Given the description of an element on the screen output the (x, y) to click on. 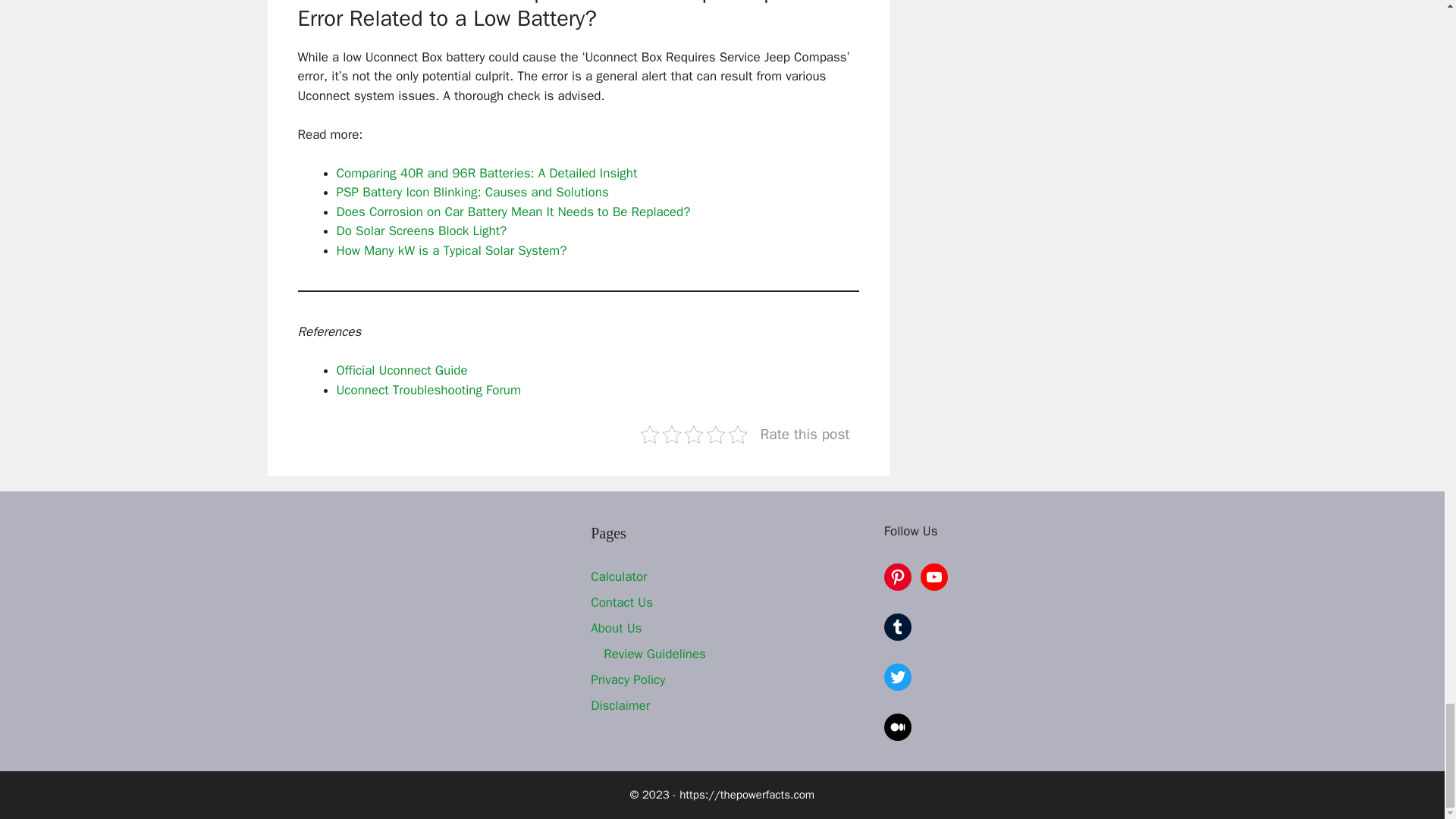
Calculator (618, 576)
Comparing 40R and 96R Batteries: A Detailed Insight (486, 172)
How Many kW is a Typical Solar System? (451, 250)
PSP Battery Icon Blinking: Causes and Solutions (472, 191)
Uconnect Troubleshooting Forum (428, 390)
Do Solar Screens Block Light? (421, 230)
Official Uconnect Guide (401, 370)
Does Corrosion on Car Battery Mean It Needs to Be Replaced? (513, 211)
